Given the description of an element on the screen output the (x, y) to click on. 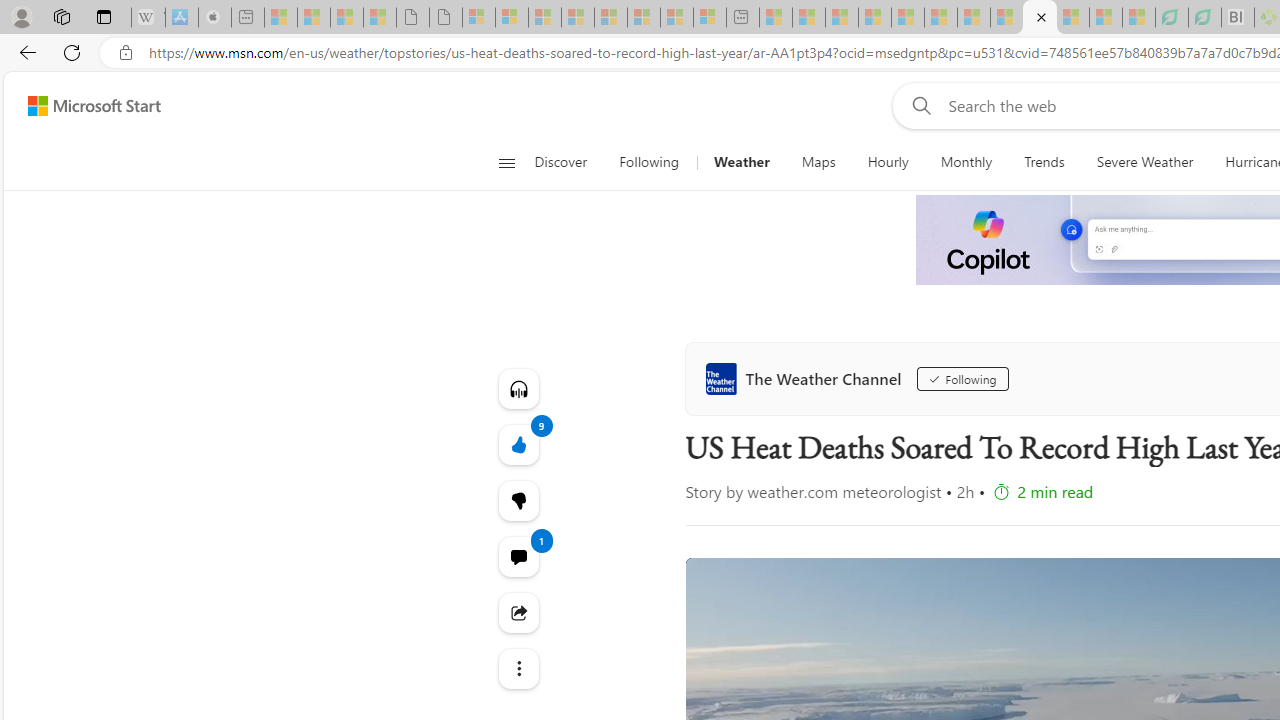
Buy iPad - Apple - Sleeping (214, 17)
9 (517, 500)
Trends (1044, 162)
Microsoft account | Account Checkup - Sleeping (709, 17)
Maps (818, 162)
Trends (1044, 162)
